Given the description of an element on the screen output the (x, y) to click on. 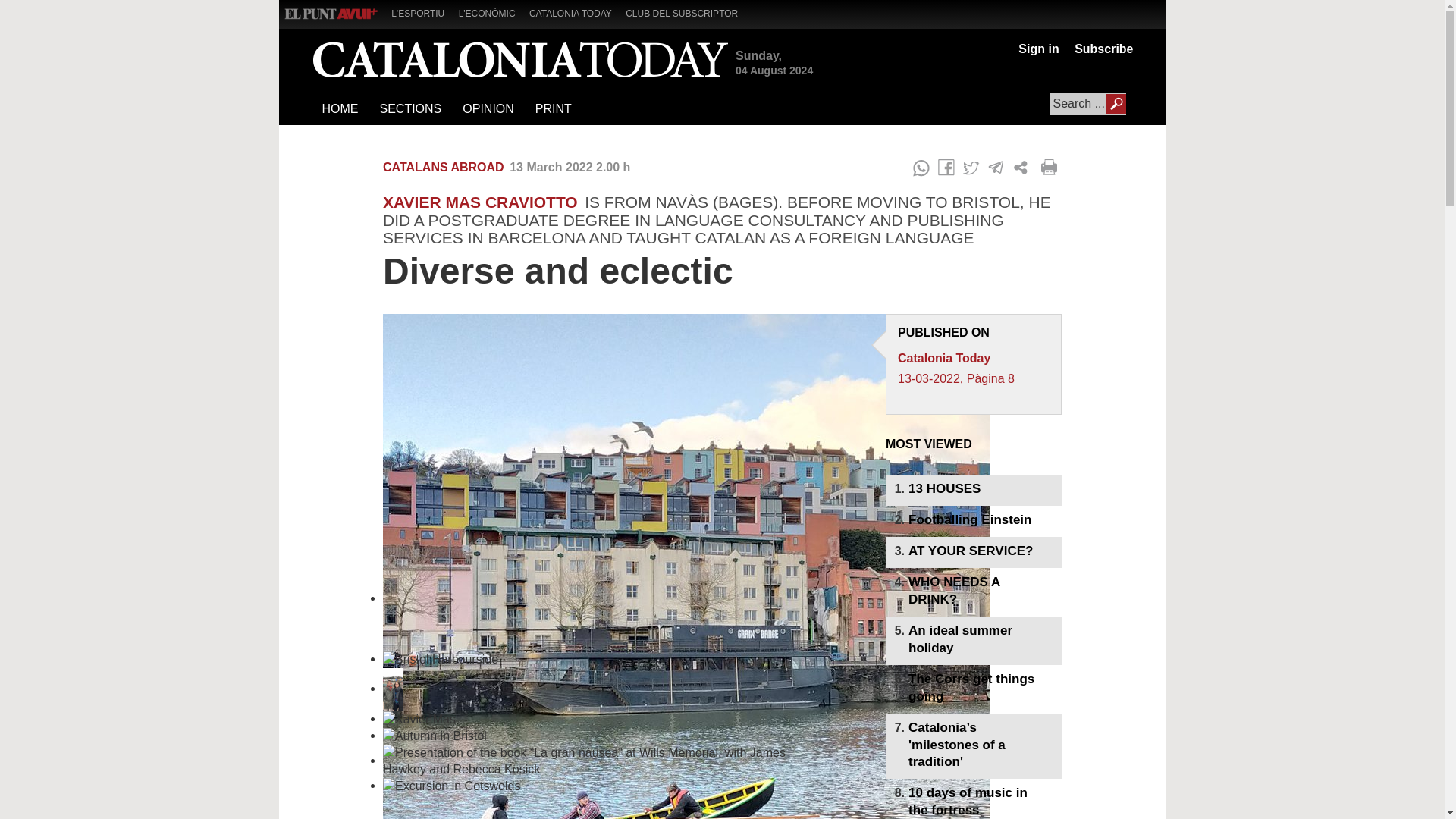
El Punt Avui (330, 13)
Share on Twitter (970, 167)
Print (1051, 167)
CATALONIA TODAY (576, 12)
Share on WhatsApp (921, 167)
Subscribe (1099, 48)
Share on Facebook (946, 167)
Sign in (1037, 49)
OPINION (487, 109)
L'ESPORTIU (423, 12)
CLUB DEL SUBSCRIPTOR (687, 12)
Search ... (1087, 103)
HOME (339, 109)
Share on Telegram (997, 167)
